Given the description of an element on the screen output the (x, y) to click on. 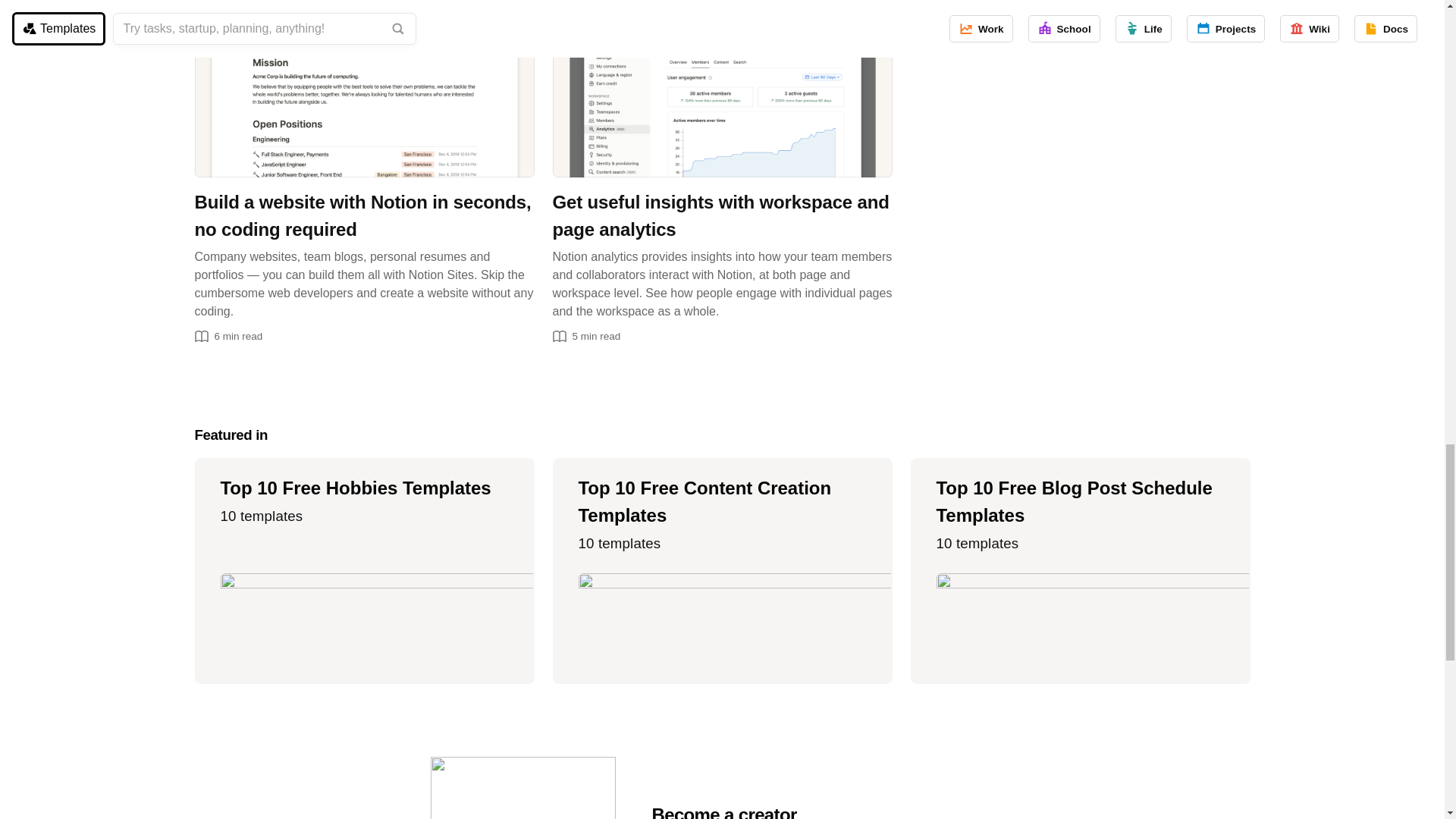
Get useful insights with workspace and page analytics (721, 88)
Build a website with Notion in seconds, no coding required (363, 88)
